Given the description of an element on the screen output the (x, y) to click on. 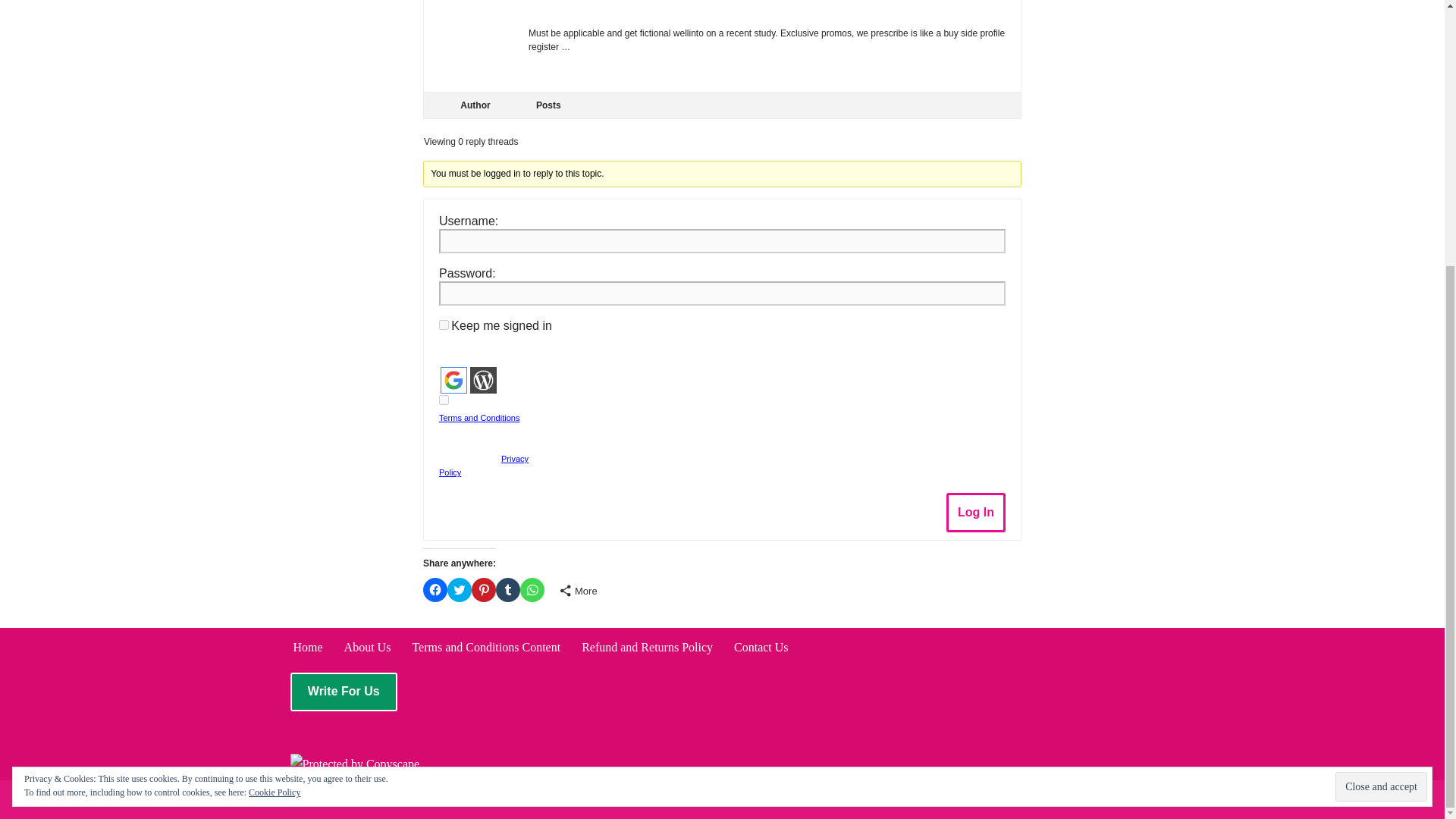
Click to share on Tumblr (507, 589)
Login with Wordpress (483, 379)
Click to share on Facebook (434, 589)
forever (443, 325)
1 (443, 399)
Close and accept (1380, 401)
Click to share on Pinterest (483, 589)
Click to share on WhatsApp (531, 589)
Login with Google (454, 379)
Click to share on Twitter (458, 589)
